Given the description of an element on the screen output the (x, y) to click on. 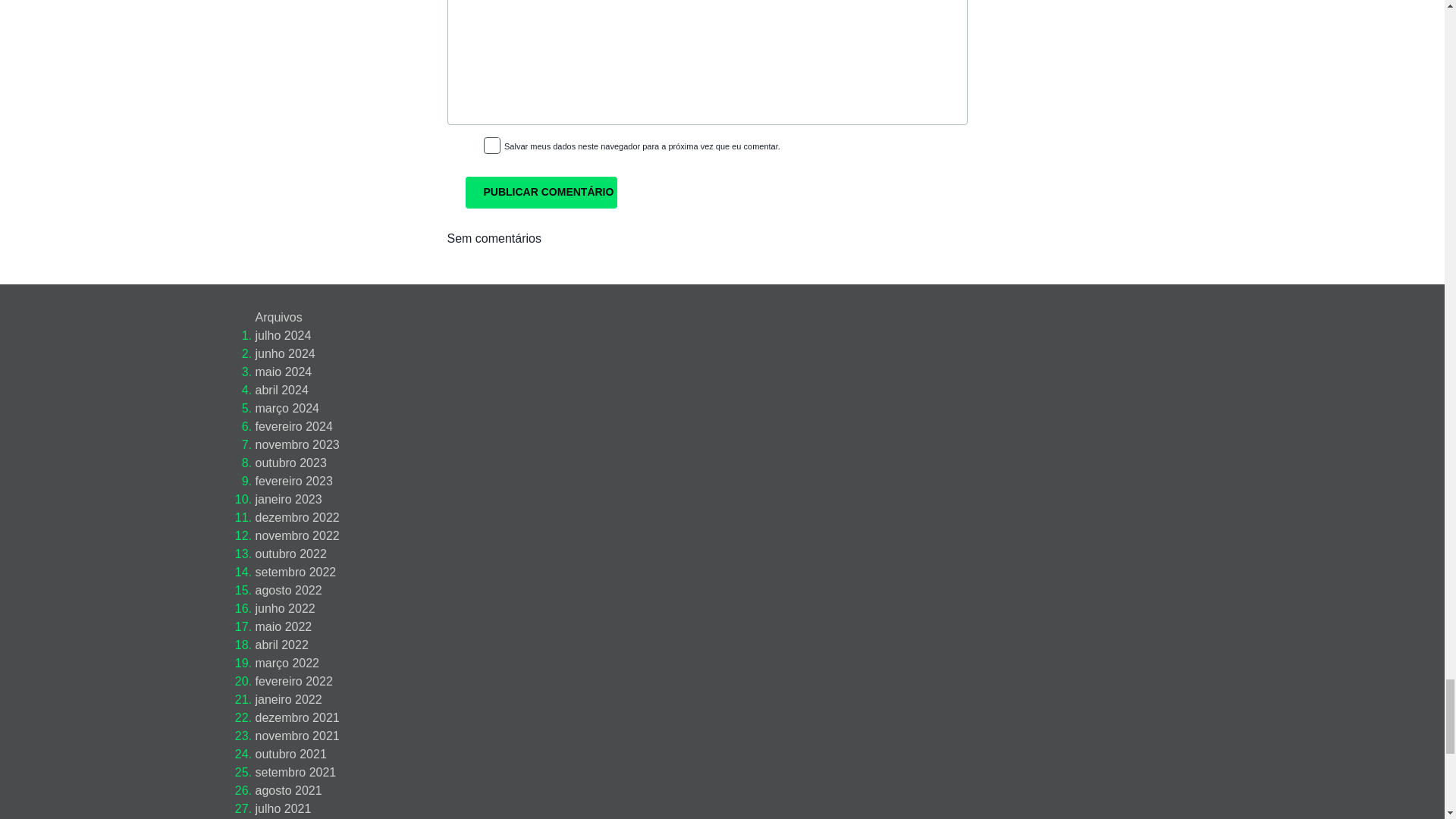
maio 2022 (282, 626)
outubro 2021 (290, 753)
dezembro 2021 (296, 717)
fevereiro 2022 (292, 680)
agosto 2022 (287, 590)
maio 2024 (282, 371)
setembro 2022 (295, 571)
setembro 2021 (295, 771)
julho 2021 (282, 808)
abril 2024 (280, 390)
dezembro 2022 (296, 517)
agosto 2021 (287, 789)
junho 2022 (284, 608)
outubro 2022 (290, 553)
julho 2024 (282, 335)
